Given the description of an element on the screen output the (x, y) to click on. 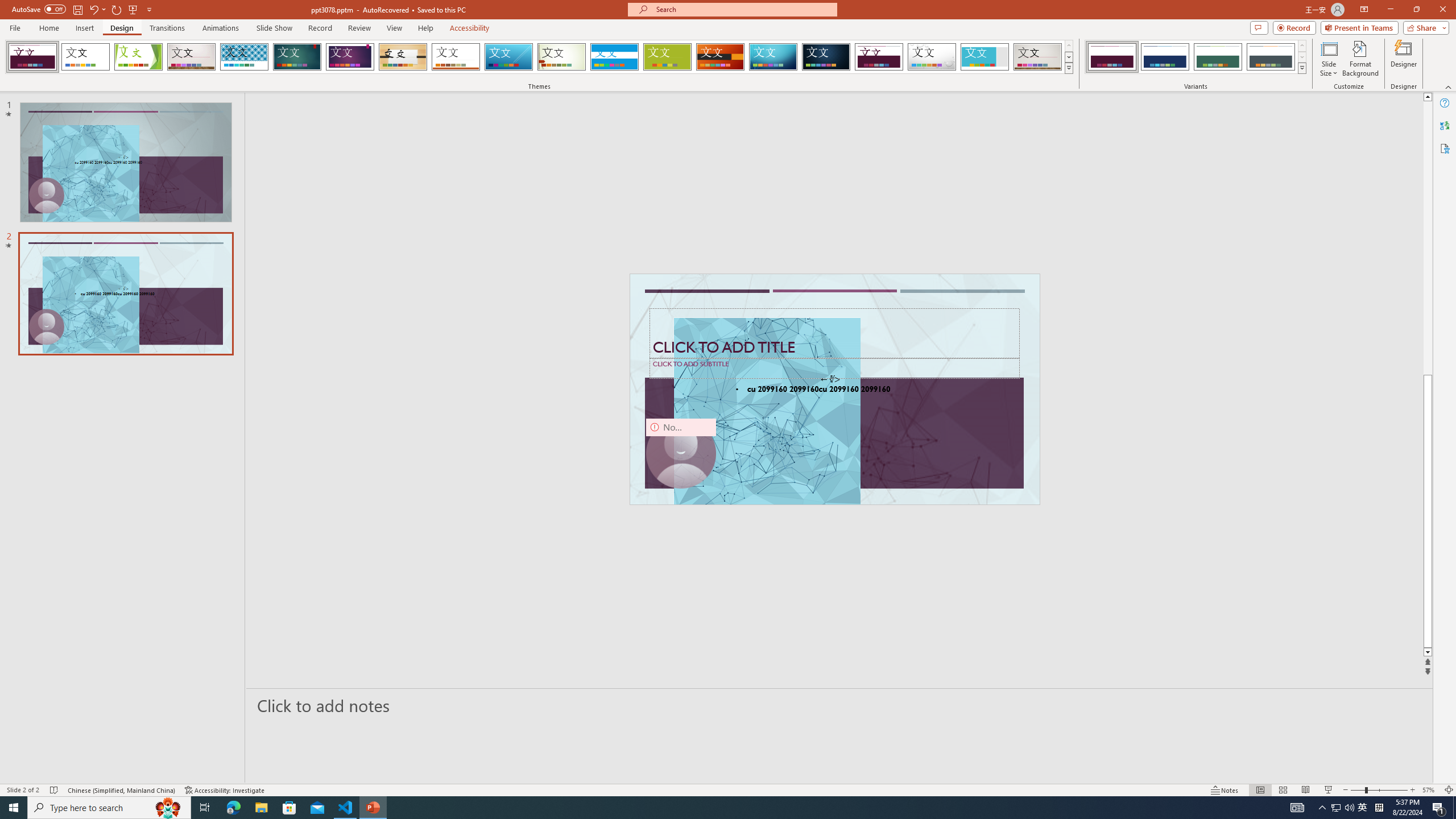
Title TextBox (834, 332)
Dividend Variant 4 (1270, 56)
Dividend Variant 2 (1164, 56)
Integral (244, 56)
Gallery (1037, 56)
Ion Boardroom (350, 56)
